Given the description of an element on the screen output the (x, y) to click on. 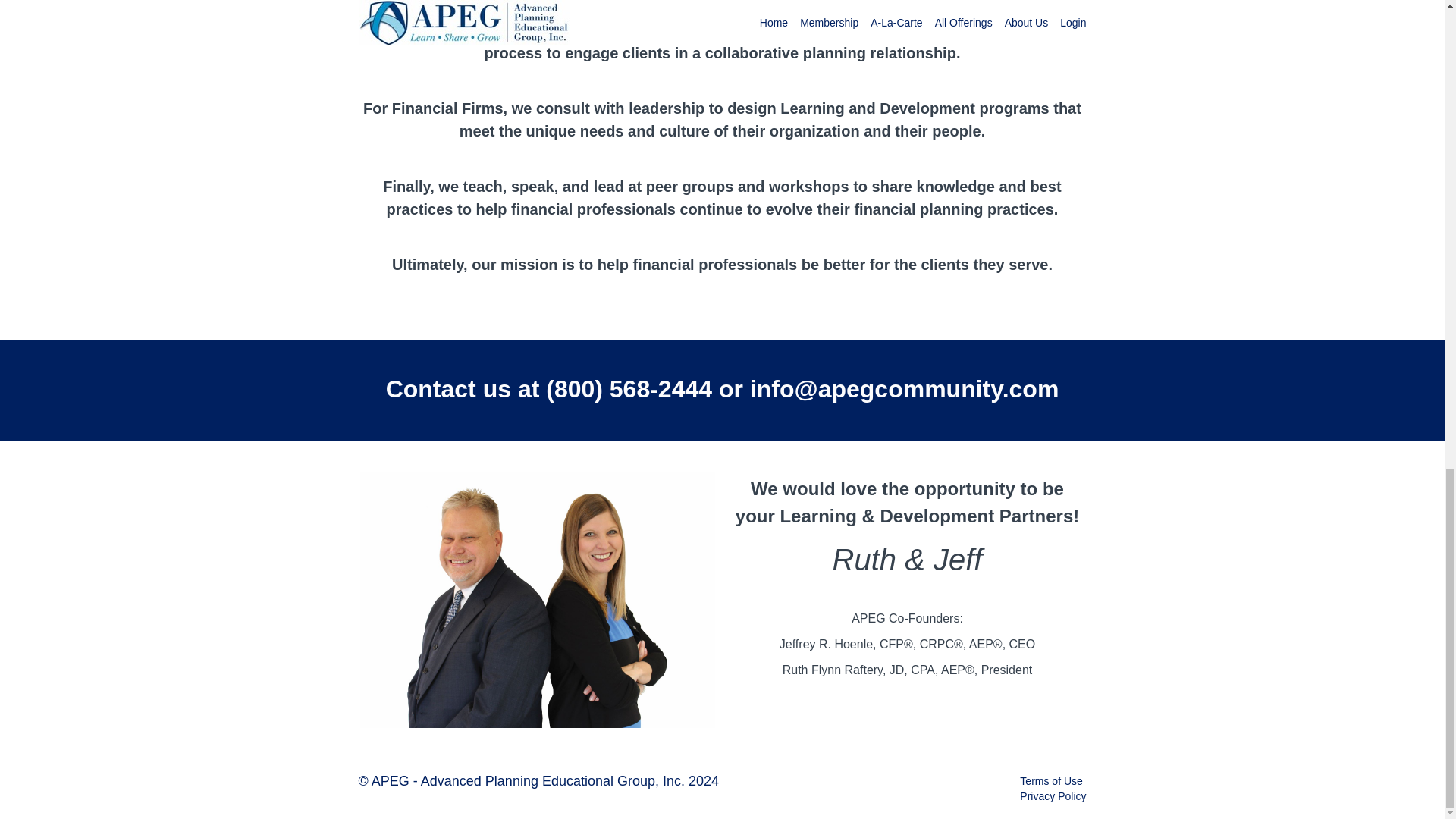
Privacy Policy (1053, 796)
Terms of Use (1050, 780)
